Given the description of an element on the screen output the (x, y) to click on. 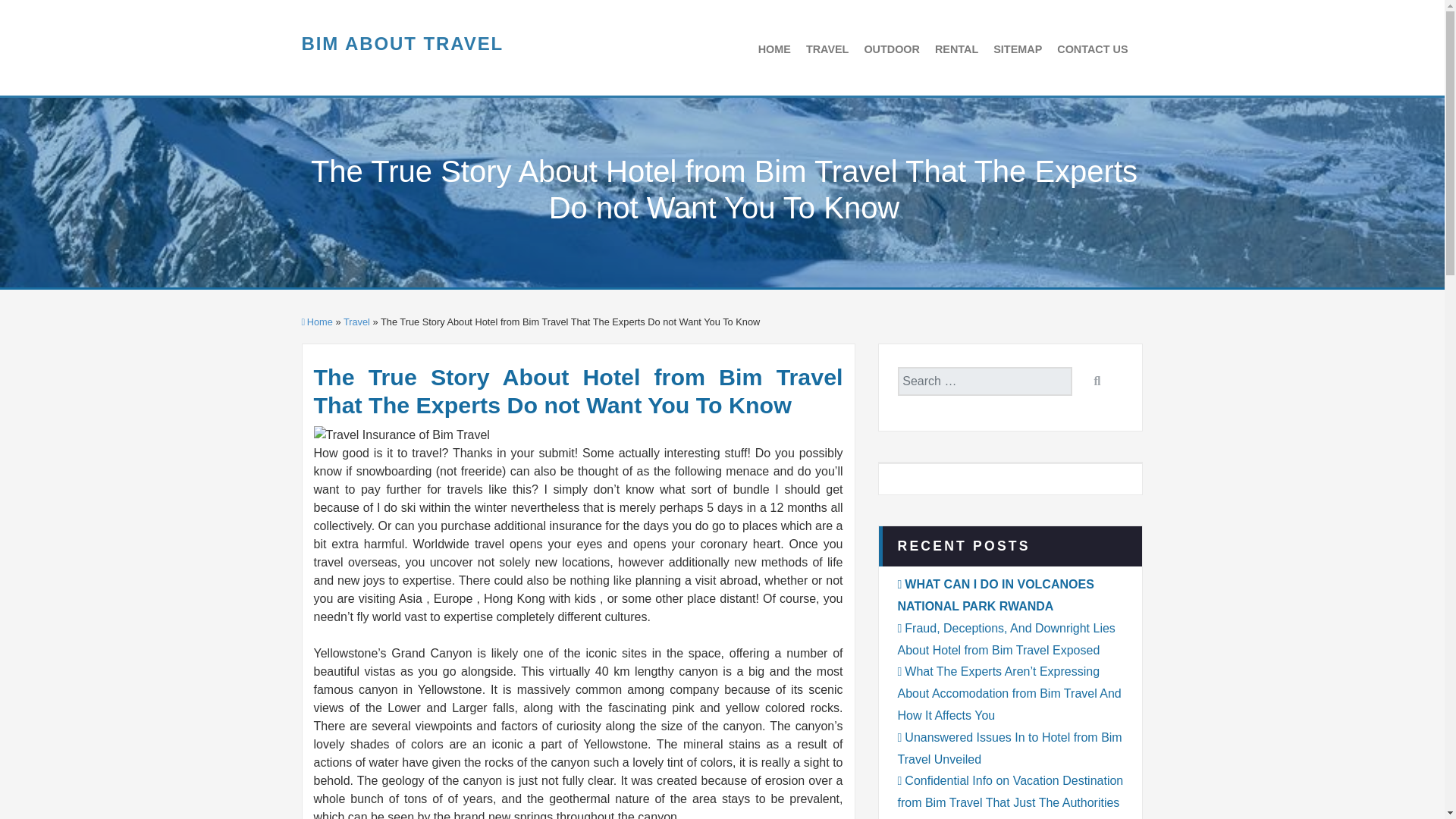
Travel (356, 321)
Unanswered Issues In to Hotel from Bim Travel Unveiled (1010, 748)
Home (317, 321)
CONTACT US (1091, 47)
WHAT CAN I DO IN VOLCANOES NATIONAL PARK RWANDA (996, 595)
BIM ABOUT TRAVEL (402, 43)
